Given the description of an element on the screen output the (x, y) to click on. 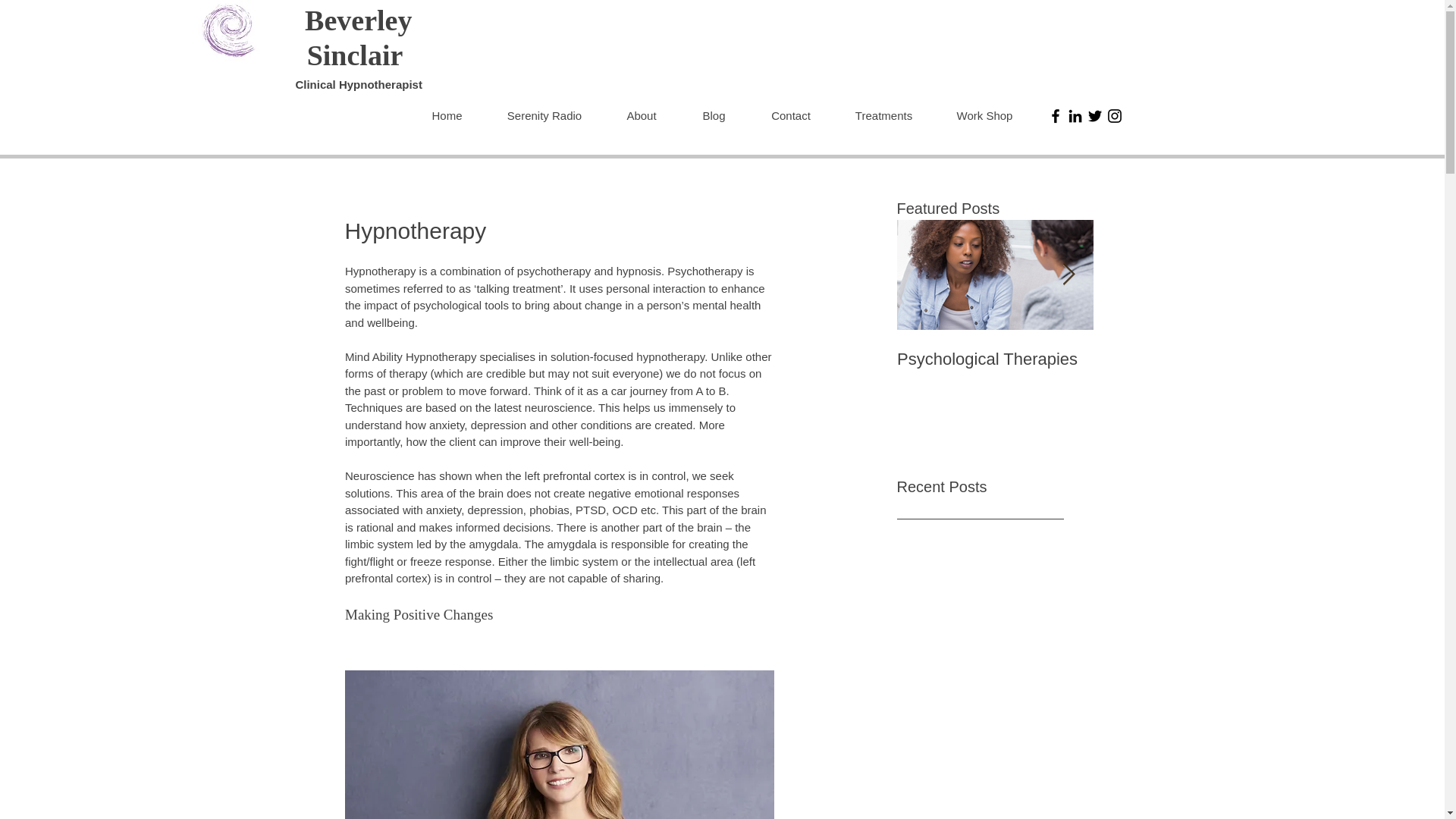
Home (446, 115)
Blog (713, 115)
Treatments (882, 115)
Contact (790, 115)
Serenity Radio (544, 115)
